Given the description of an element on the screen output the (x, y) to click on. 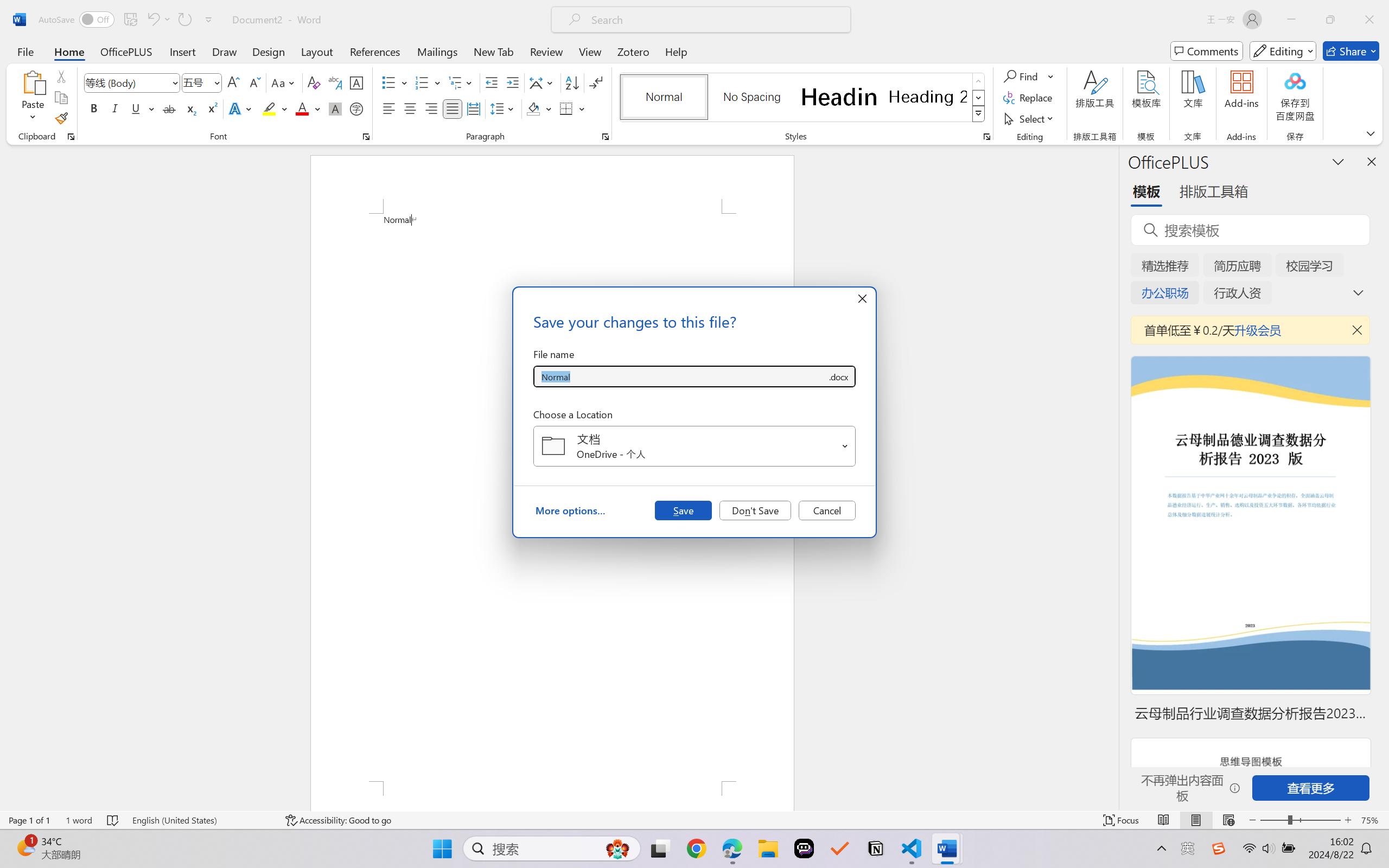
Find (1029, 75)
Line and Paragraph Spacing (503, 108)
Decrease Indent (491, 82)
Undo Apply Quick Style (158, 19)
Strikethrough (169, 108)
Share (1350, 51)
Font... (365, 136)
Replace... (1029, 97)
Character Border (356, 82)
Font Color Red (302, 108)
